Given the description of an element on the screen output the (x, y) to click on. 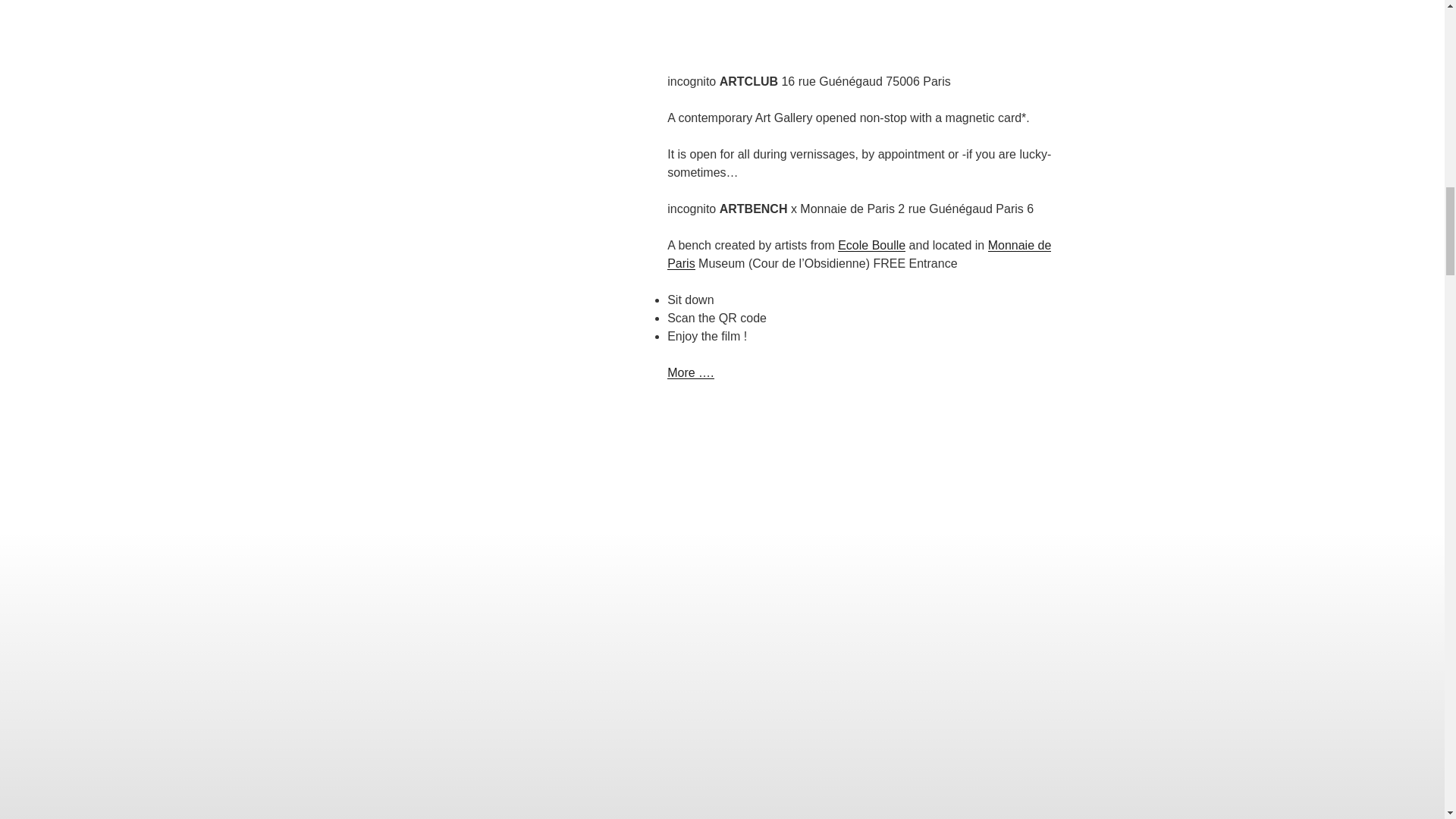
Monnaie de Paris (858, 254)
Ecole Boulle (871, 245)
